Given the description of an element on the screen output the (x, y) to click on. 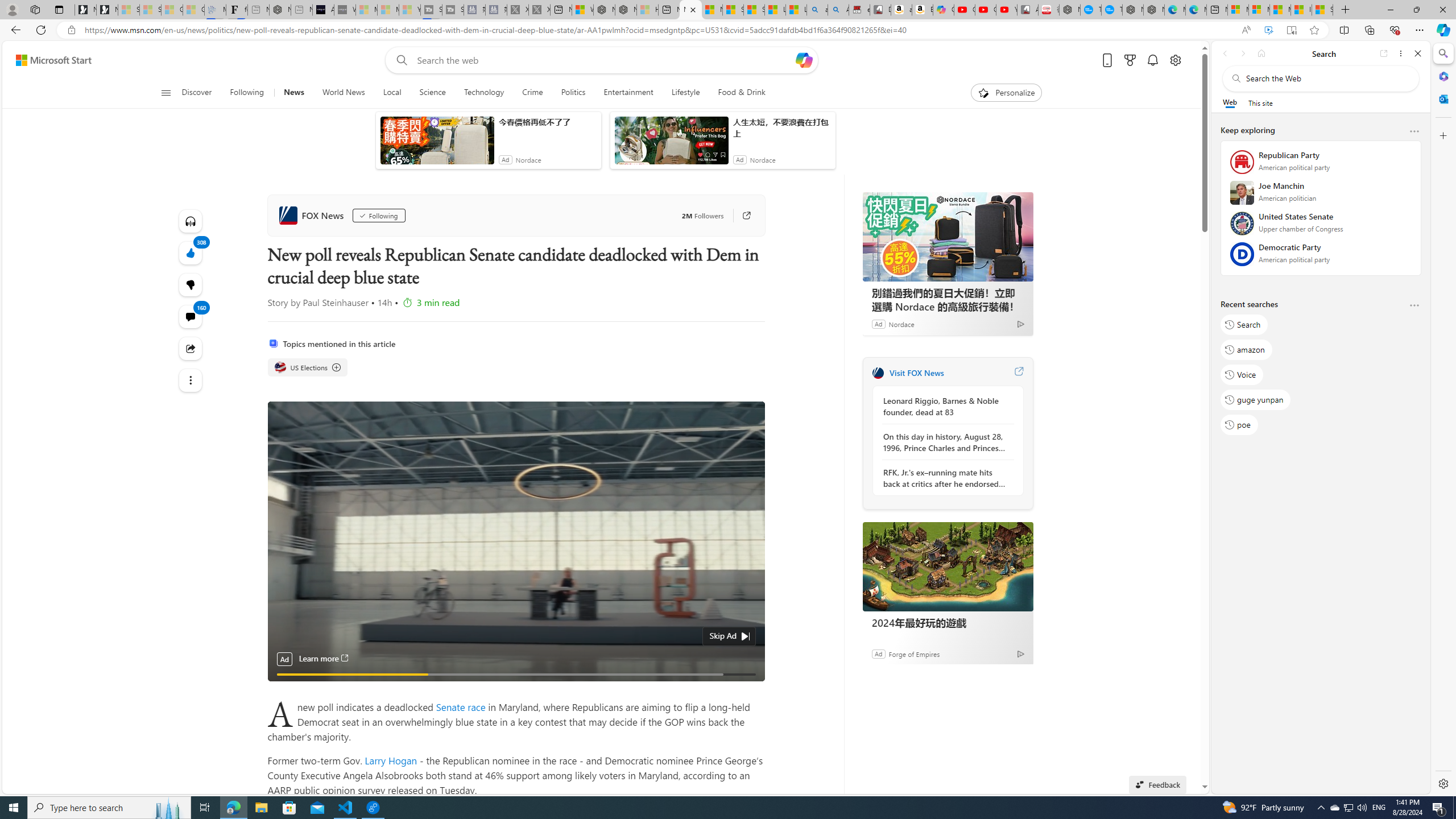
Nordace - Nordace has arrived Hong Kong (1153, 9)
Nordace - My Account (1069, 9)
Web scope (1230, 102)
Forward (1242, 53)
Lifestyle (685, 92)
Listen to this article (190, 221)
Entertainment (628, 92)
News (293, 92)
